Given the description of an element on the screen output the (x, y) to click on. 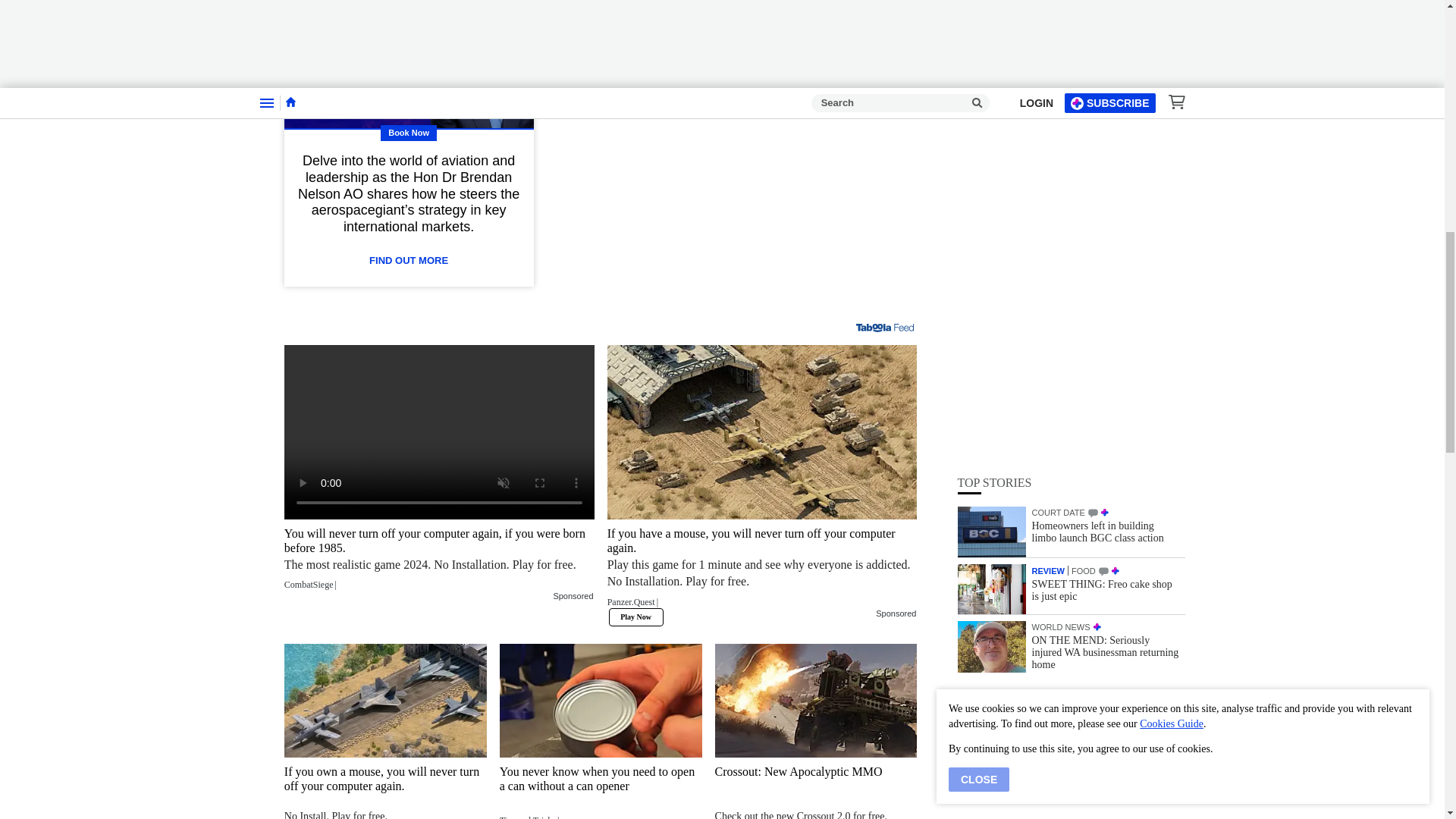
COMMENTS (1103, 219)
PREMIUM (1097, 276)
PREMIUM (1115, 218)
"Description: No Install. Play for free." (384, 814)
Premium (753, 5)
Premium (735, 28)
PREMIUM (1104, 161)
COMMENTS (1092, 162)
